Given the description of an element on the screen output the (x, y) to click on. 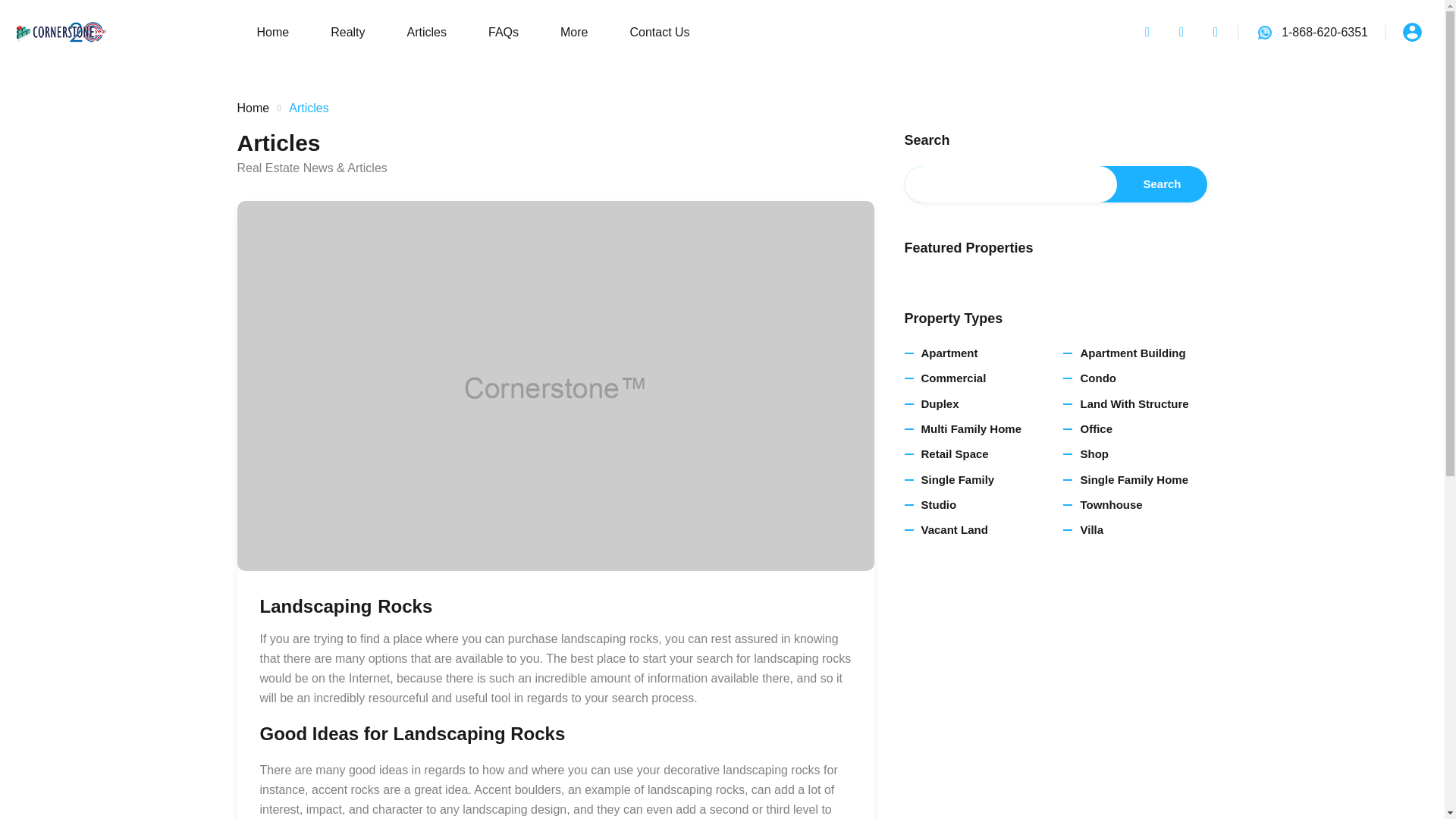
Articles (426, 31)
Home (271, 31)
Realty (347, 31)
FAQs (503, 31)
